Given the description of an element on the screen output the (x, y) to click on. 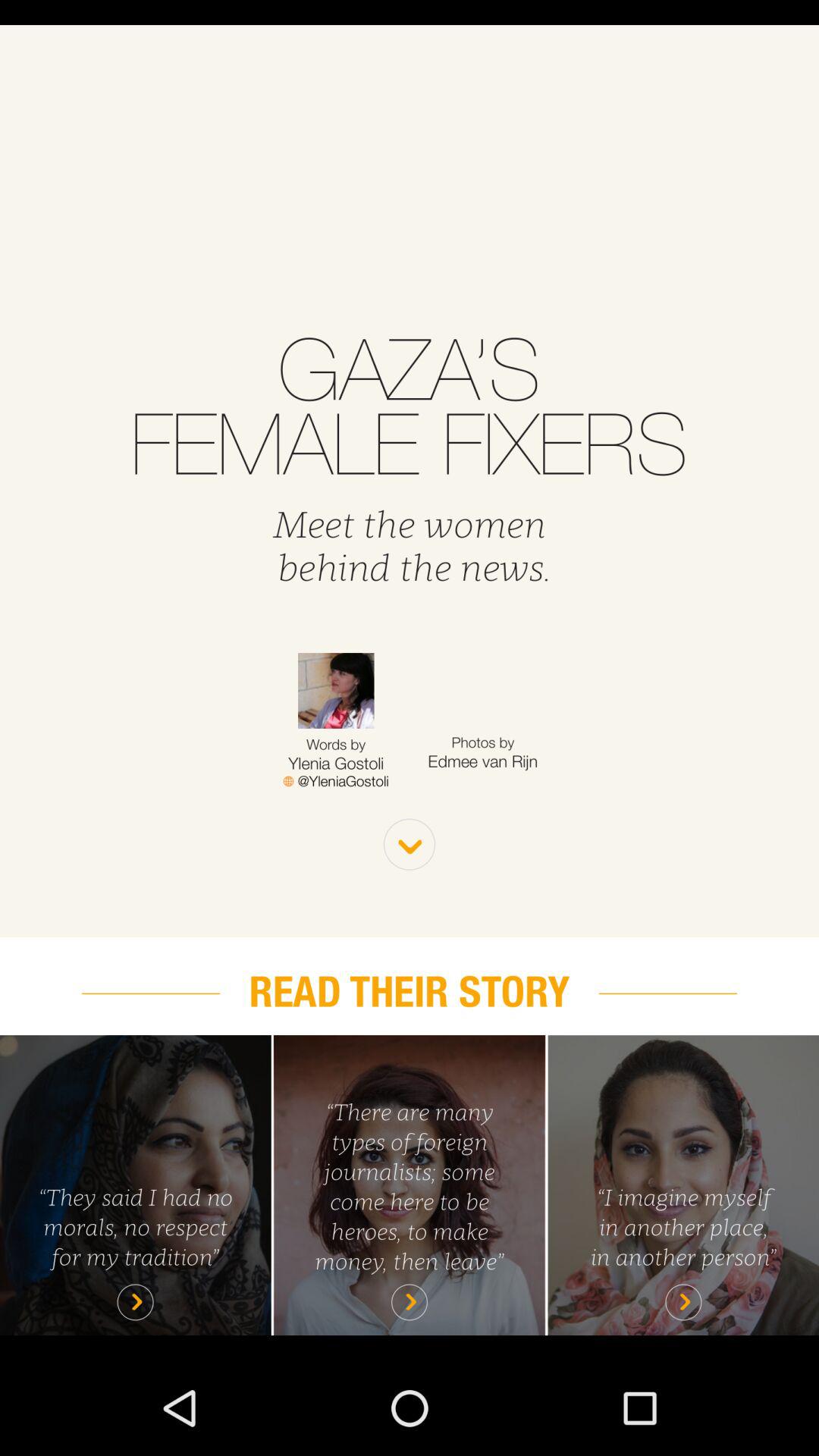
press down arrow (409, 844)
